Given the description of an element on the screen output the (x, y) to click on. 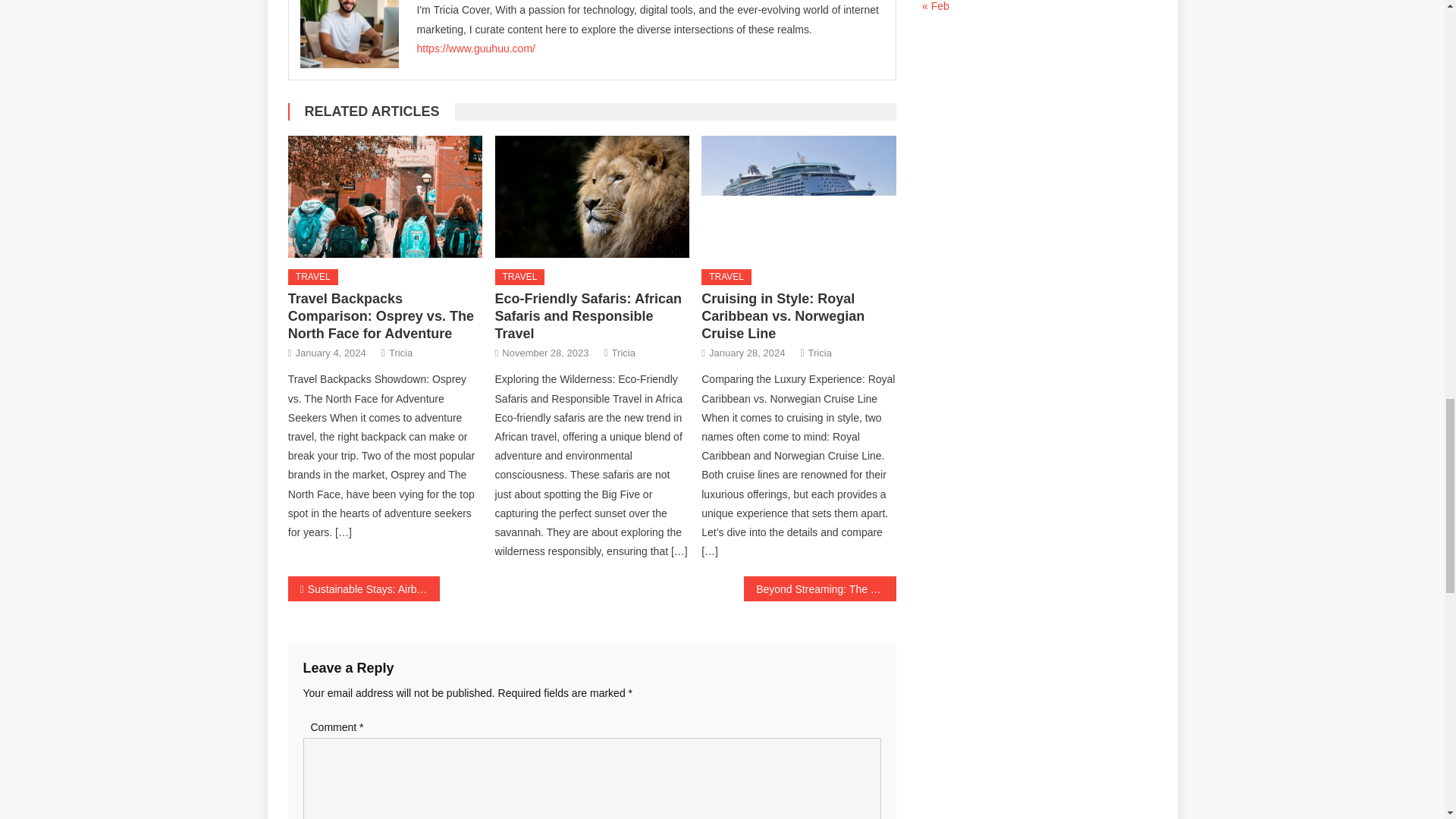
Eco-Friendly Safaris: African Safaris and Responsible Travel (591, 196)
TRAVEL (312, 277)
TRAVEL (519, 277)
Eco-Friendly Safaris: African Safaris and Responsible Travel (588, 316)
January 4, 2024 (330, 352)
Tricia (400, 352)
Cruising in Style: Royal Caribbean vs. Norwegian Cruise Line (798, 196)
